Given the description of an element on the screen output the (x, y) to click on. 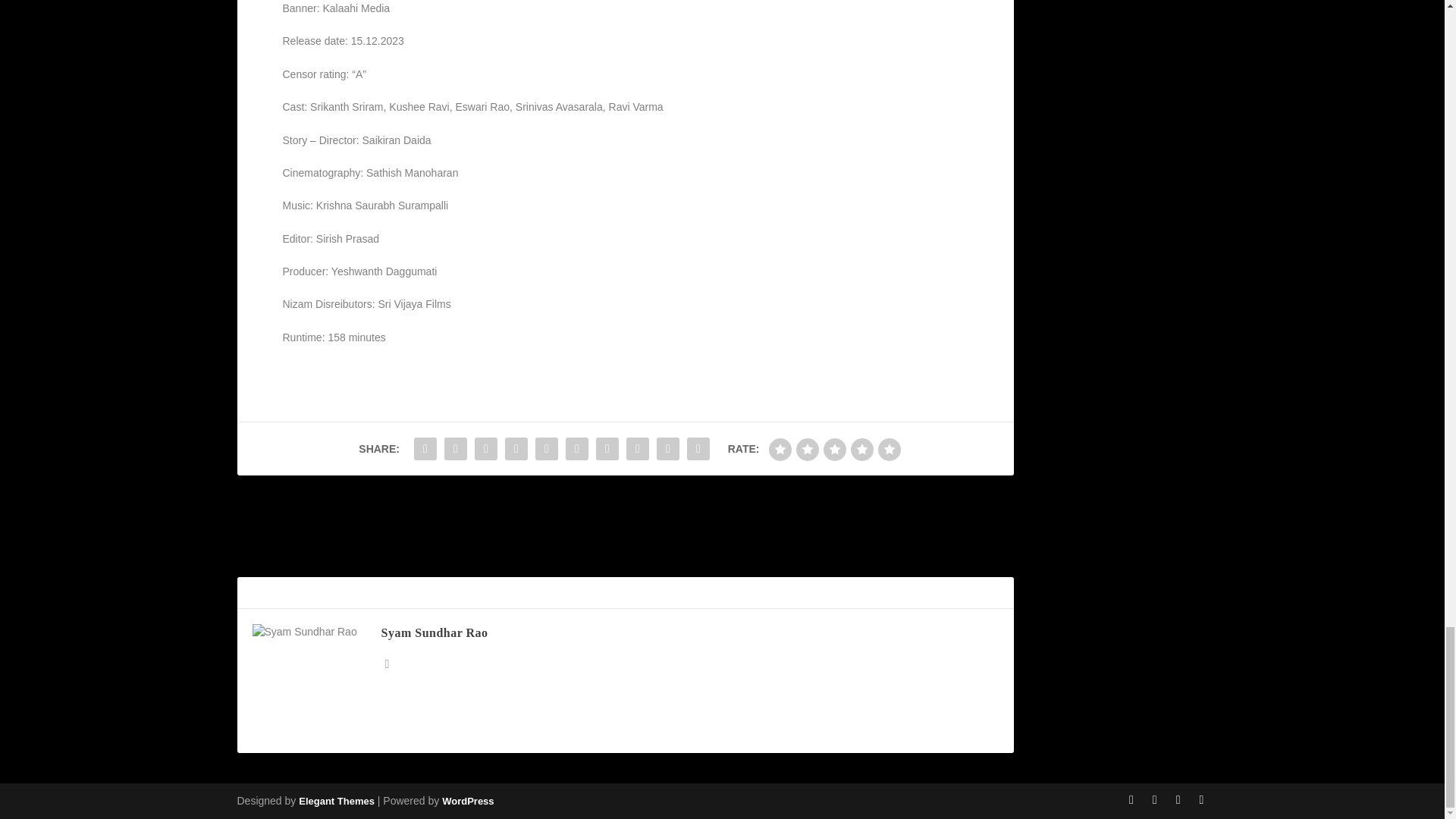
bad (780, 449)
Share "Pindam Movie Review" via LinkedIn (577, 449)
Share "Pindam Movie Review" via Buffer (607, 449)
Share "Pindam Movie Review" via Email (667, 449)
Share "Pindam Movie Review" via Print (697, 449)
Share "Pindam Movie Review" via Pinterest (546, 449)
Share "Pindam Movie Review" via Tumblr (515, 449)
Share "Pindam Movie Review" via Twitter (455, 449)
Share "Pindam Movie Review" via Stumbleupon (637, 449)
Share "Pindam Movie Review" via Facebook (425, 449)
